Given the description of an element on the screen output the (x, y) to click on. 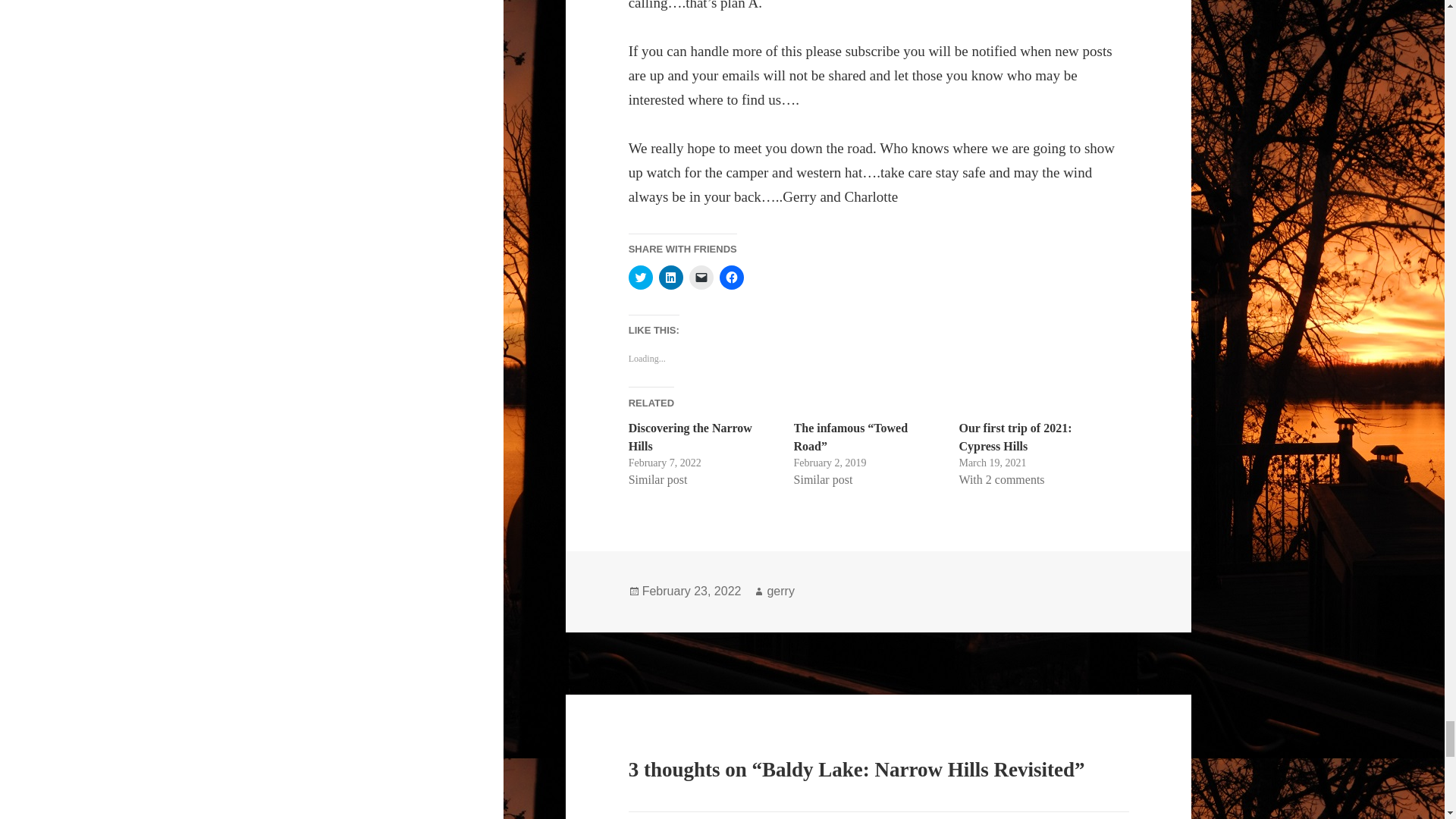
Click to share on Facebook (731, 277)
Click to email a link to a friend (700, 277)
Our first trip of 2021: Cypress Hills (1014, 436)
Discovering the Narrow Hills (690, 436)
Click to share on LinkedIn (670, 277)
Click to share on Twitter (640, 277)
